Given the description of an element on the screen output the (x, y) to click on. 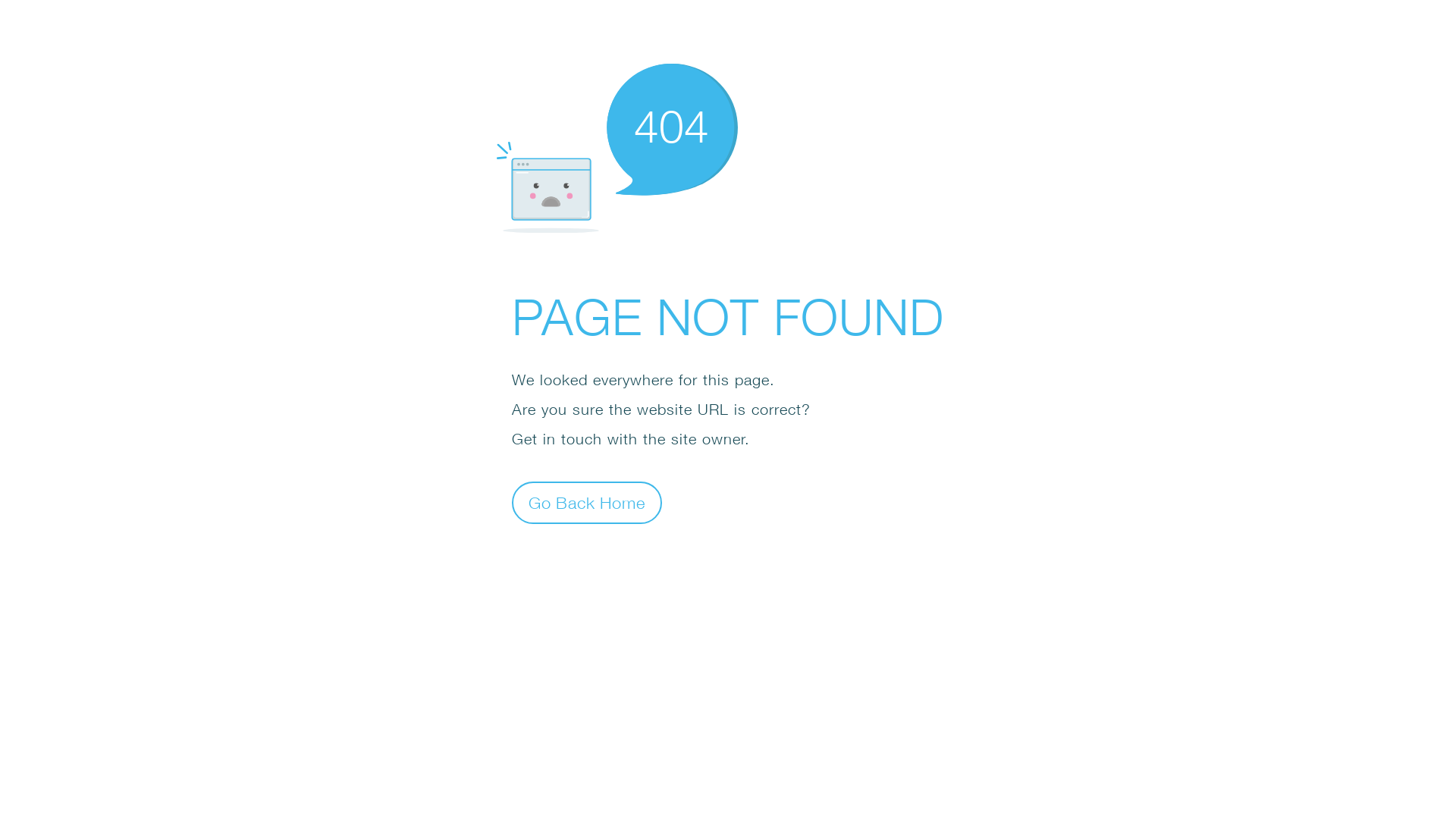
Go Back Home Element type: text (586, 502)
